Given the description of an element on the screen output the (x, y) to click on. 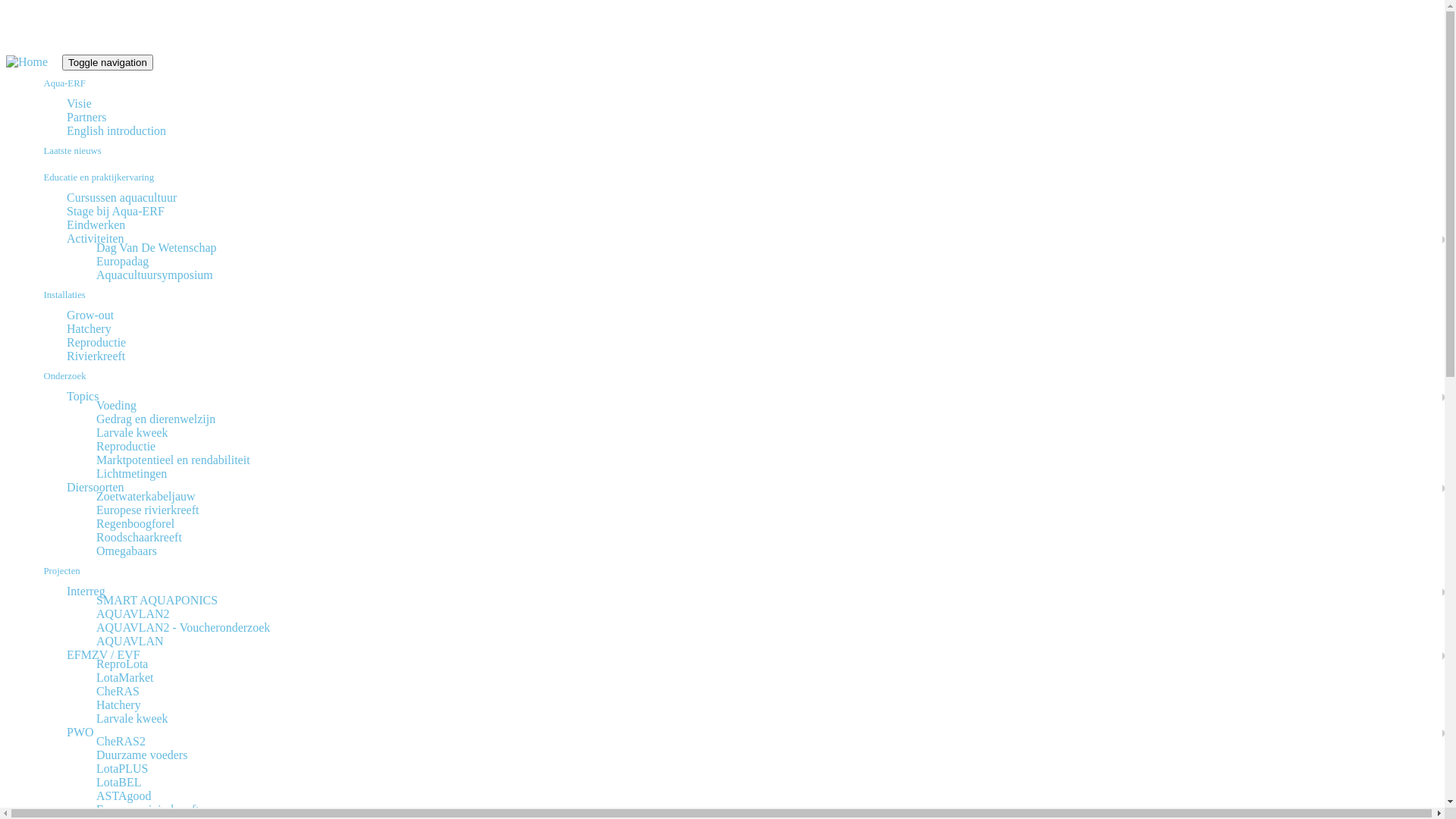
Stage bij Aqua-ERF Element type: text (115, 210)
Partners Element type: text (86, 116)
Installaties Element type: text (737, 295)
Rivierkreeft Element type: text (95, 355)
Visie Element type: text (78, 103)
Dag Van De Wetenschap Element type: text (156, 247)
Topics Element type: text (82, 395)
Gedrag en dierenwelzijn Element type: text (155, 418)
ReproLota Element type: text (121, 663)
Zoetwaterkabeljauw Element type: text (145, 495)
Europese rivierkreeft Element type: text (147, 809)
Toggle navigation Element type: text (107, 62)
CheRAS Element type: text (117, 690)
Reproductie Element type: text (125, 445)
Projecten Element type: text (737, 571)
Eindwerken Element type: text (95, 224)
Roodschaarkreeft Element type: text (139, 536)
Aqua-ERF Element type: text (737, 83)
English introduction Element type: text (116, 130)
Regenboogforel Element type: text (135, 523)
AQUAVLAN Element type: text (129, 640)
Cursussen aquacultuur Element type: text (121, 197)
CheRAS2 Element type: text (120, 740)
Larvale kweek Element type: text (132, 718)
Europese rivierkreeft Element type: text (147, 509)
Overslaan en naar de algemene inhoud gaan Element type: text (6, 54)
Hatchery Element type: text (118, 704)
Lichtmetingen Element type: text (131, 473)
Europadag Element type: text (122, 260)
LotaPLUS Element type: text (121, 768)
Onderzoek Element type: text (737, 376)
AQUAVLAN2 - Voucheronderzoek Element type: text (182, 627)
LotaMarket Element type: text (124, 677)
Interreg Element type: text (85, 590)
AQUAVLAN2 Element type: text (132, 613)
PWO Element type: text (80, 731)
Voeding Element type: text (116, 404)
Larvale kweek Element type: text (132, 432)
Reproductie Element type: text (95, 341)
Marktpotentieel en rendabiliteit Element type: text (173, 459)
Diersoorten Element type: text (95, 486)
EFMZV / EVF Element type: text (103, 654)
Home Element type: hover (34, 61)
Grow-out Element type: text (89, 314)
SMART AQUAPONICS Element type: text (156, 599)
Omegabaars Element type: text (126, 550)
LotaBEL Element type: text (118, 781)
Educatie en praktijkervaring Element type: text (737, 177)
Activiteiten Element type: text (95, 238)
ASTAgood Element type: text (123, 795)
Hatchery Element type: text (88, 328)
Aquacultuursymposium Element type: text (154, 274)
Laatste nieuws Element type: text (737, 151)
Duurzame voeders Element type: text (141, 754)
